Given the description of an element on the screen output the (x, y) to click on. 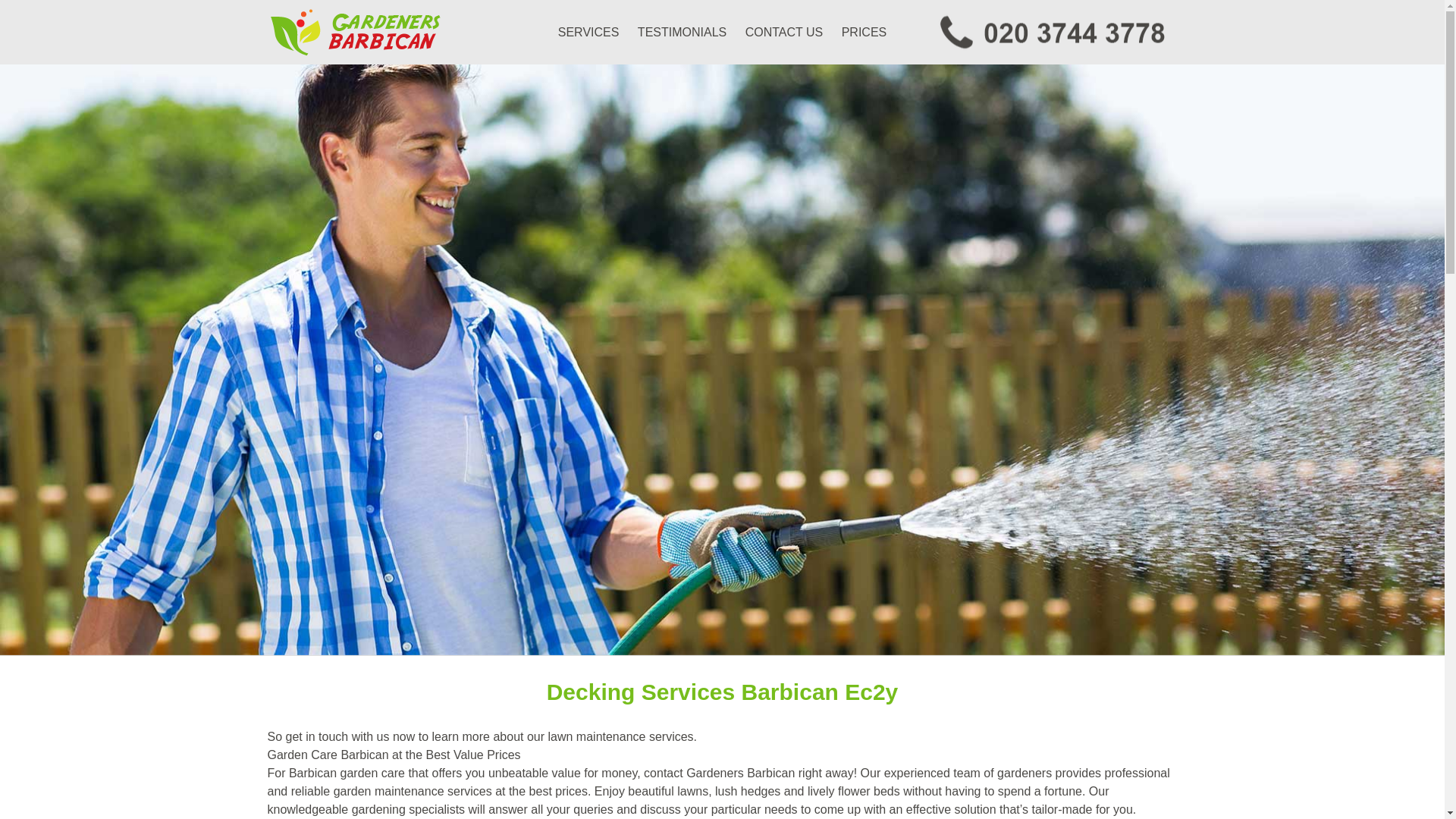
SERVICES (588, 31)
CONTACT US (784, 31)
PRICES (863, 31)
TESTIMONIALS (681, 31)
